Given the description of an element on the screen output the (x, y) to click on. 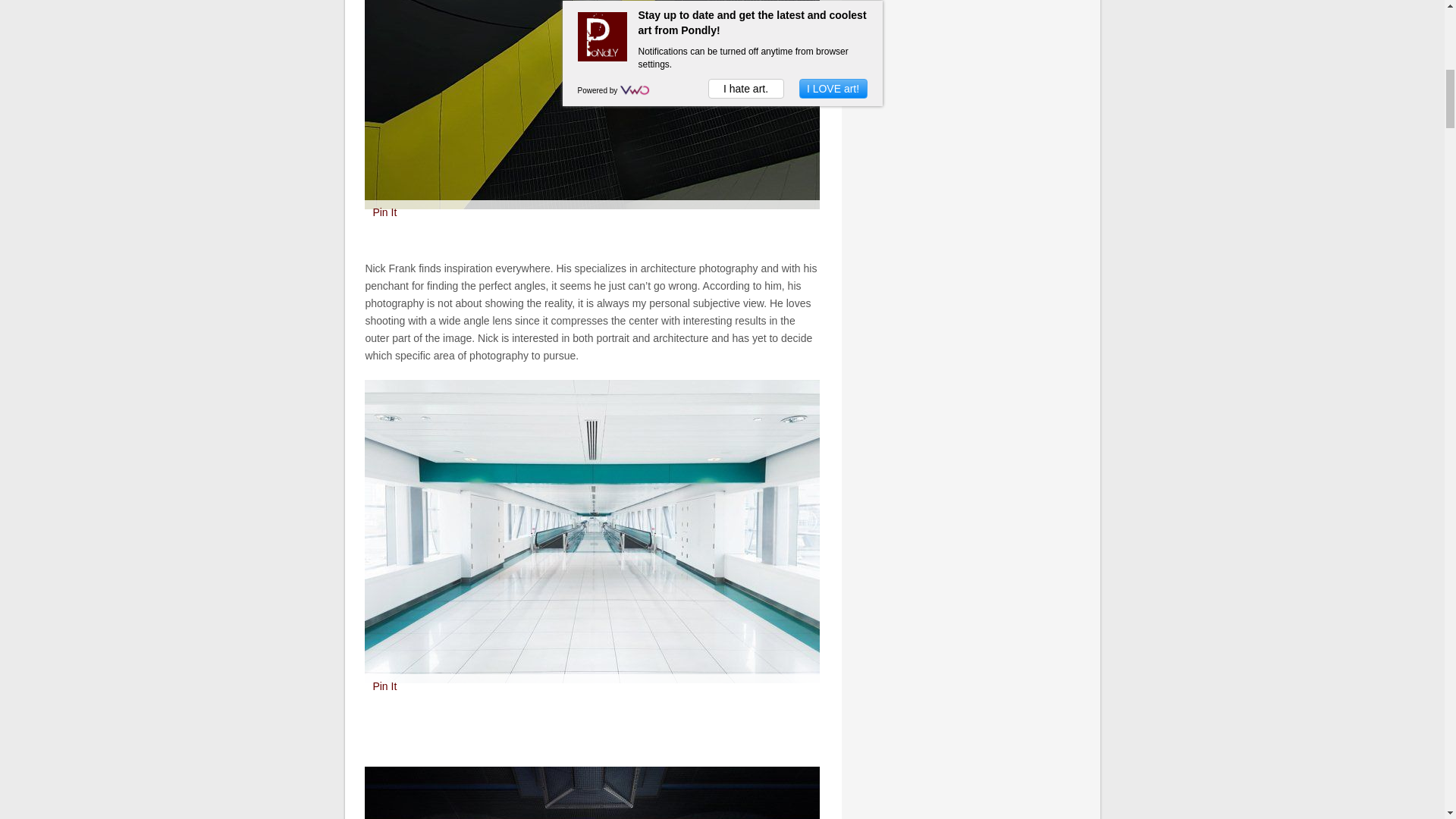
Pin It (384, 212)
Pin It (384, 686)
